Given the description of an element on the screen output the (x, y) to click on. 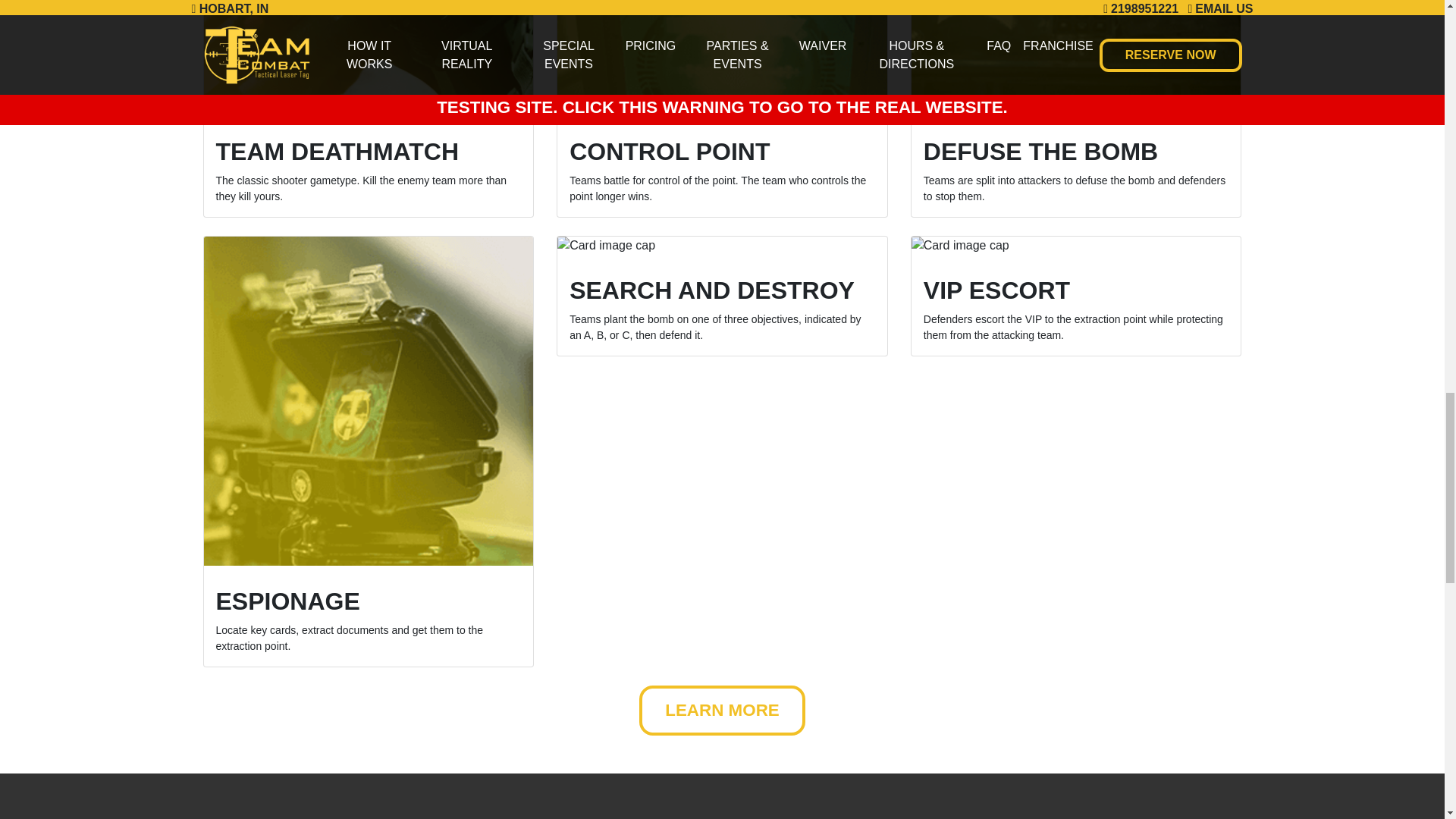
LEARN MORE (722, 710)
